Given the description of an element on the screen output the (x, y) to click on. 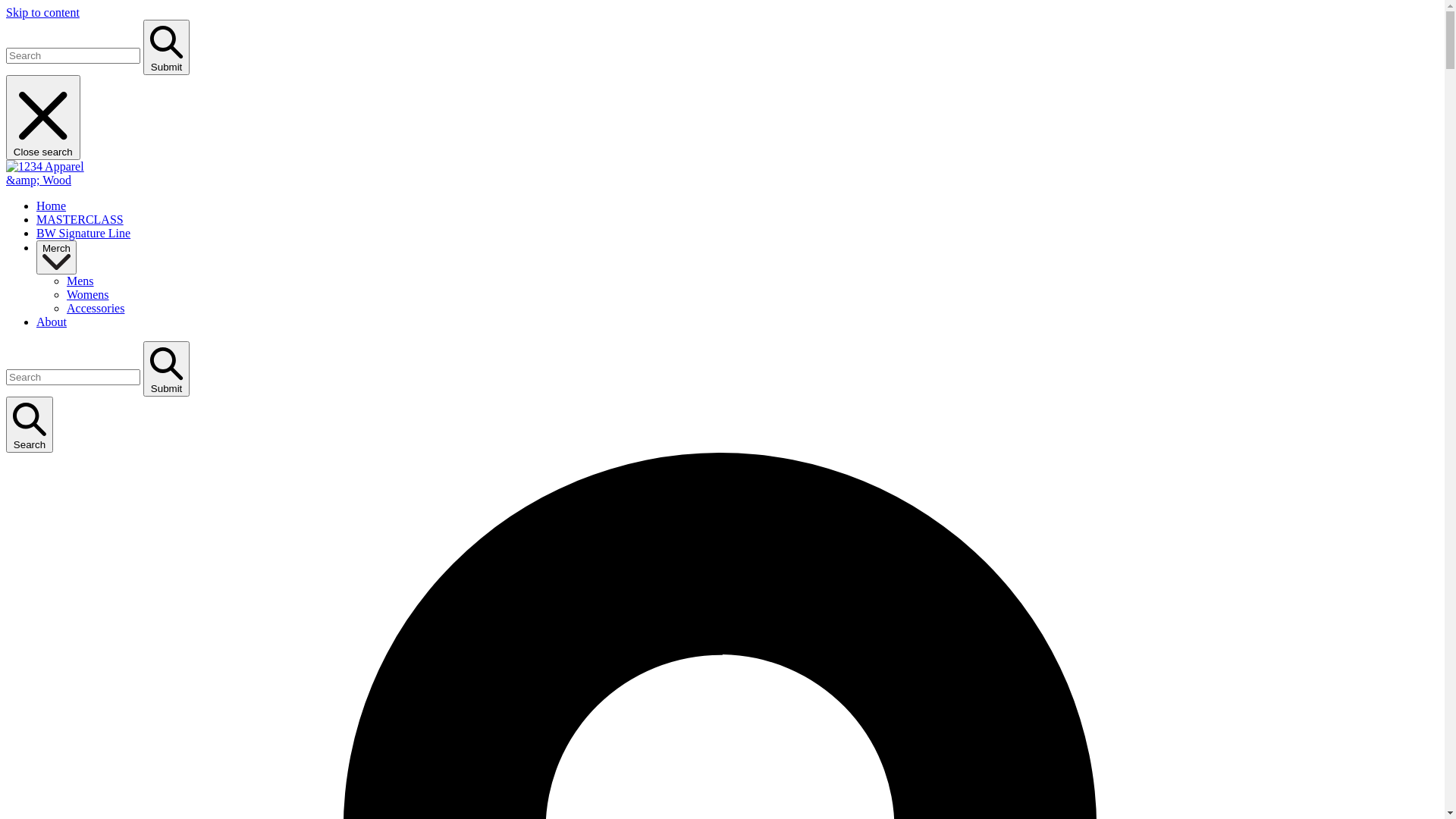
About Element type: text (51, 321)
Womens Element type: text (87, 294)
Submit Element type: text (166, 47)
Skip to content Element type: text (42, 12)
BW Signature Line Element type: text (83, 232)
Accessories Element type: text (95, 307)
Home Element type: text (50, 205)
Search Element type: text (29, 424)
Mens Element type: text (80, 280)
Close search Element type: text (43, 117)
Submit Element type: text (166, 368)
MASTERCLASS Element type: text (79, 219)
